Given the description of an element on the screen output the (x, y) to click on. 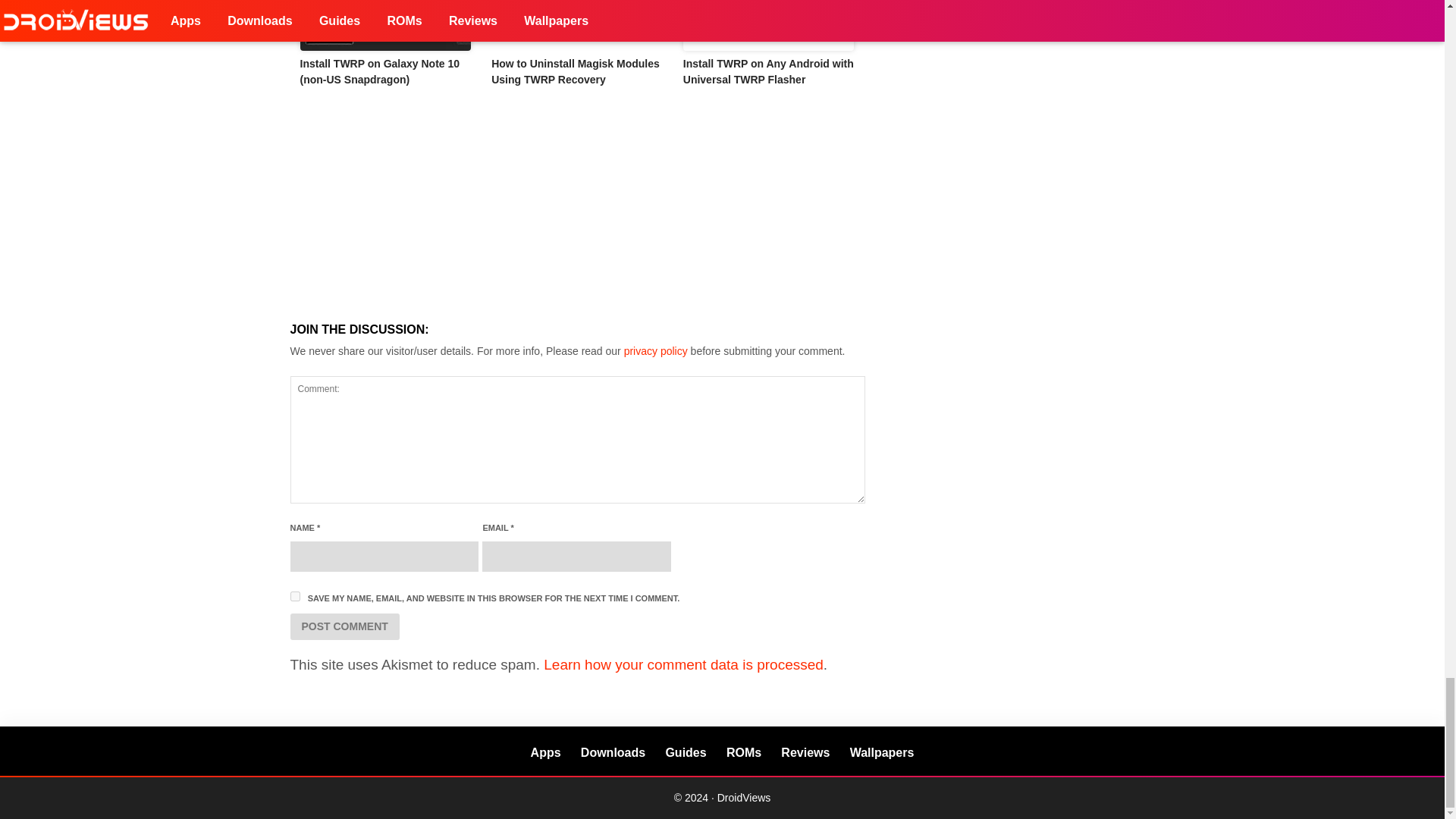
Install TWRP on Any Android with Universal TWRP Flasher (767, 71)
How to Uninstall Magisk Modules Using TWRP Recovery (577, 25)
Post Comment (343, 626)
yes (294, 596)
How to Uninstall Magisk Modules Using TWRP Recovery (575, 71)
comment-policy-title (655, 350)
privacy policy (655, 350)
Install TWRP on Any Android with Universal TWRP Flasher (769, 25)
